Given the description of an element on the screen output the (x, y) to click on. 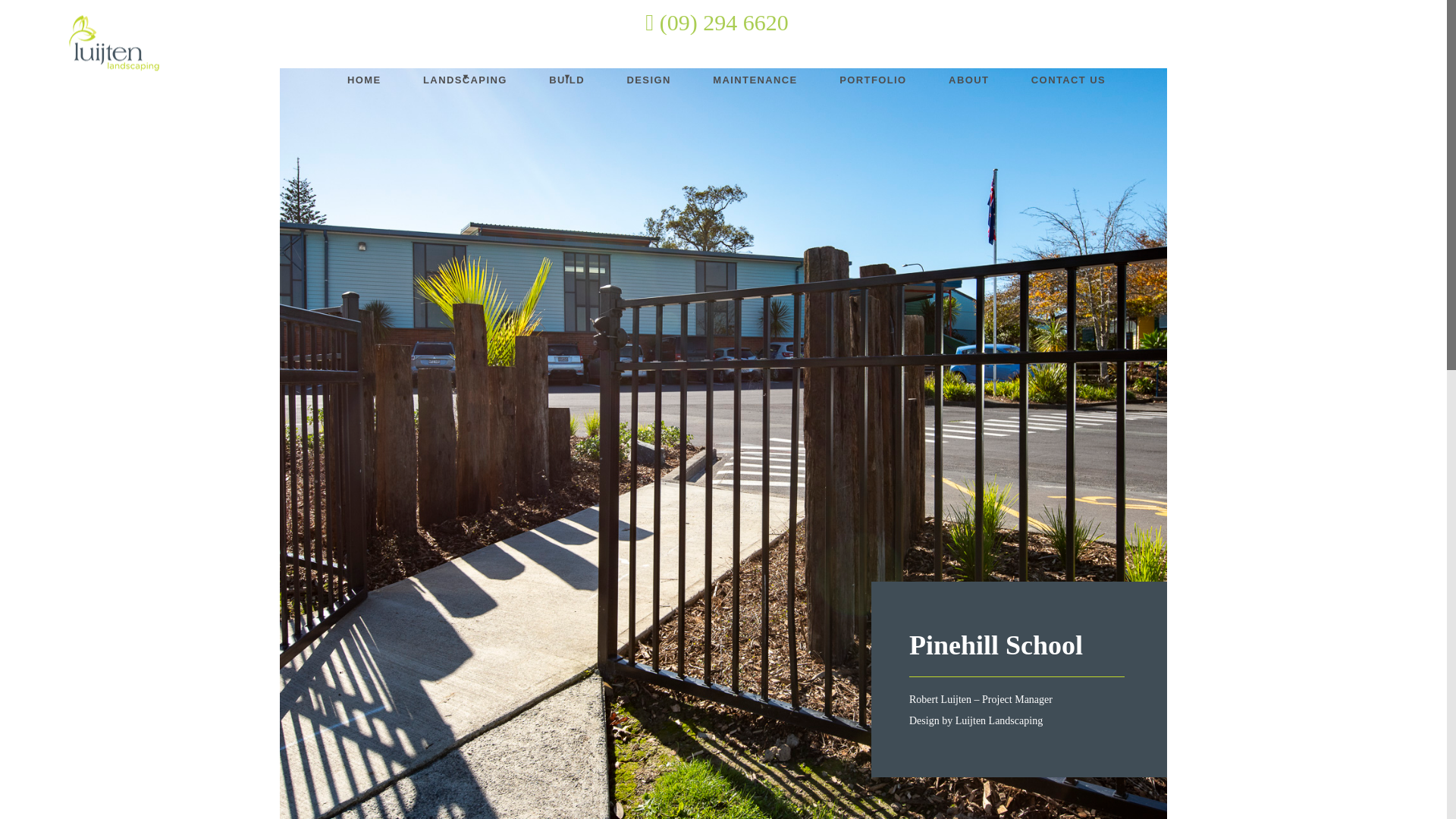
MAINTENANCE (754, 80)
Luijten (106, 45)
HOME (363, 80)
BUILD (566, 80)
CONTACT US (1068, 80)
DESIGN (648, 80)
ABOUT (967, 80)
PORTFOLIO (872, 80)
LANDSCAPING (464, 80)
